Given the description of an element on the screen output the (x, y) to click on. 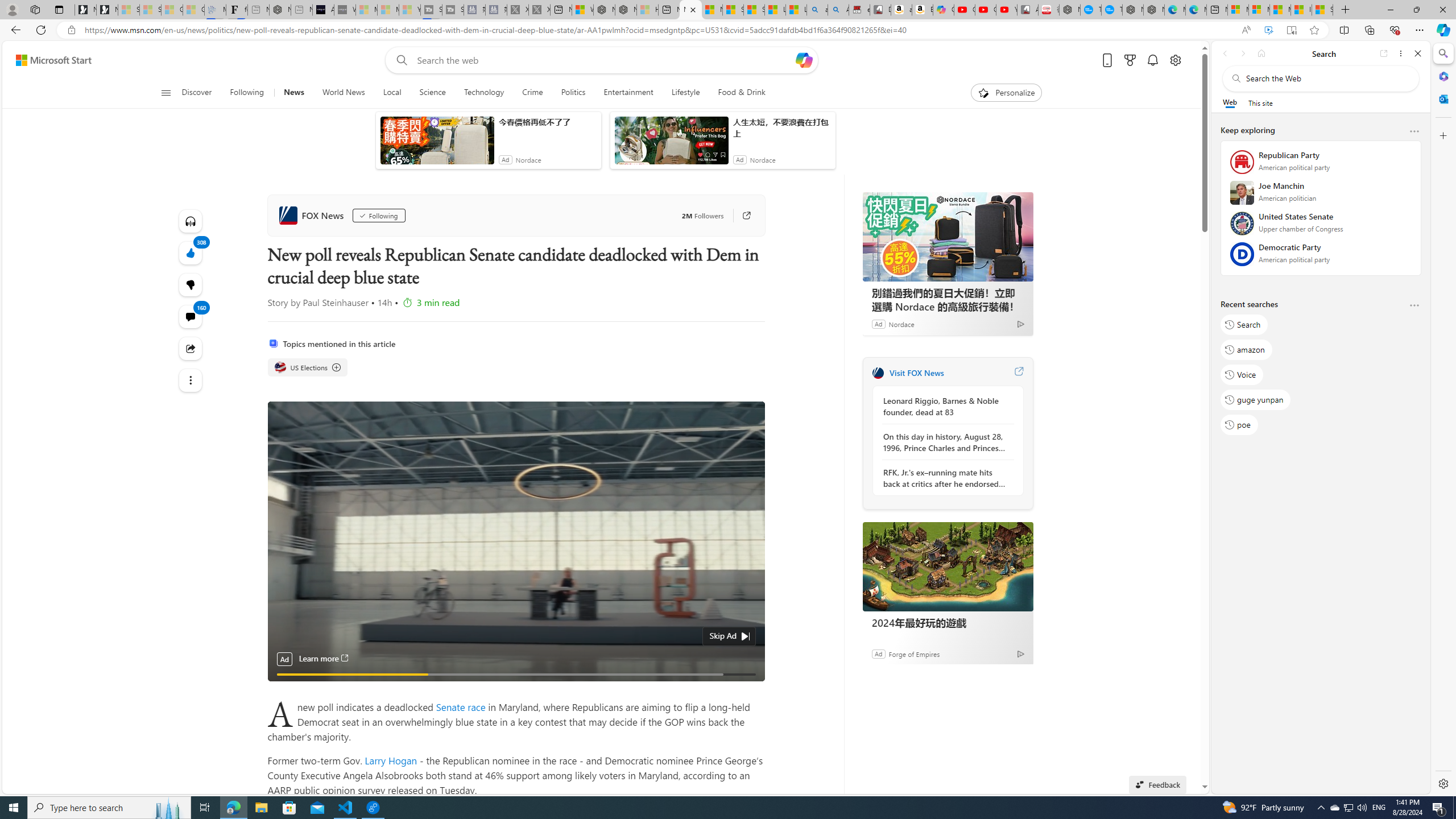
Microsoft rewards (1129, 60)
Politics (573, 92)
Share this story (190, 348)
Microsoft Start - Sleeping (387, 9)
FOX News (312, 215)
Microsoft Start Sports - Sleeping (365, 9)
308 Like (190, 252)
